Given the description of an element on the screen output the (x, y) to click on. 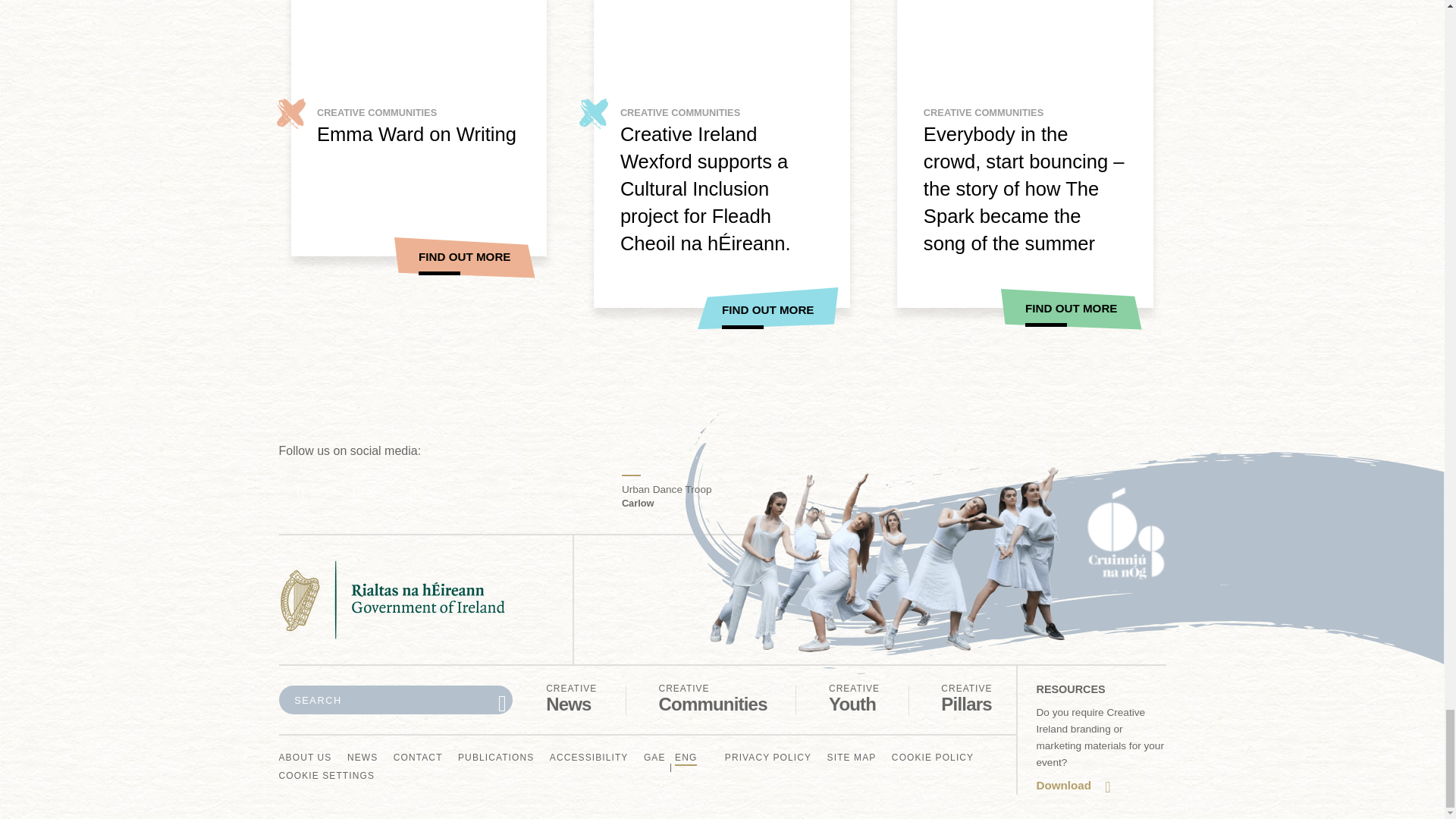
NEWS (965, 698)
Soundcloud (362, 758)
Instagram (582, 493)
ABOUT US (853, 698)
Gaeilge (468, 493)
CONTACT (571, 698)
Youtube (305, 758)
